Given the description of an element on the screen output the (x, y) to click on. 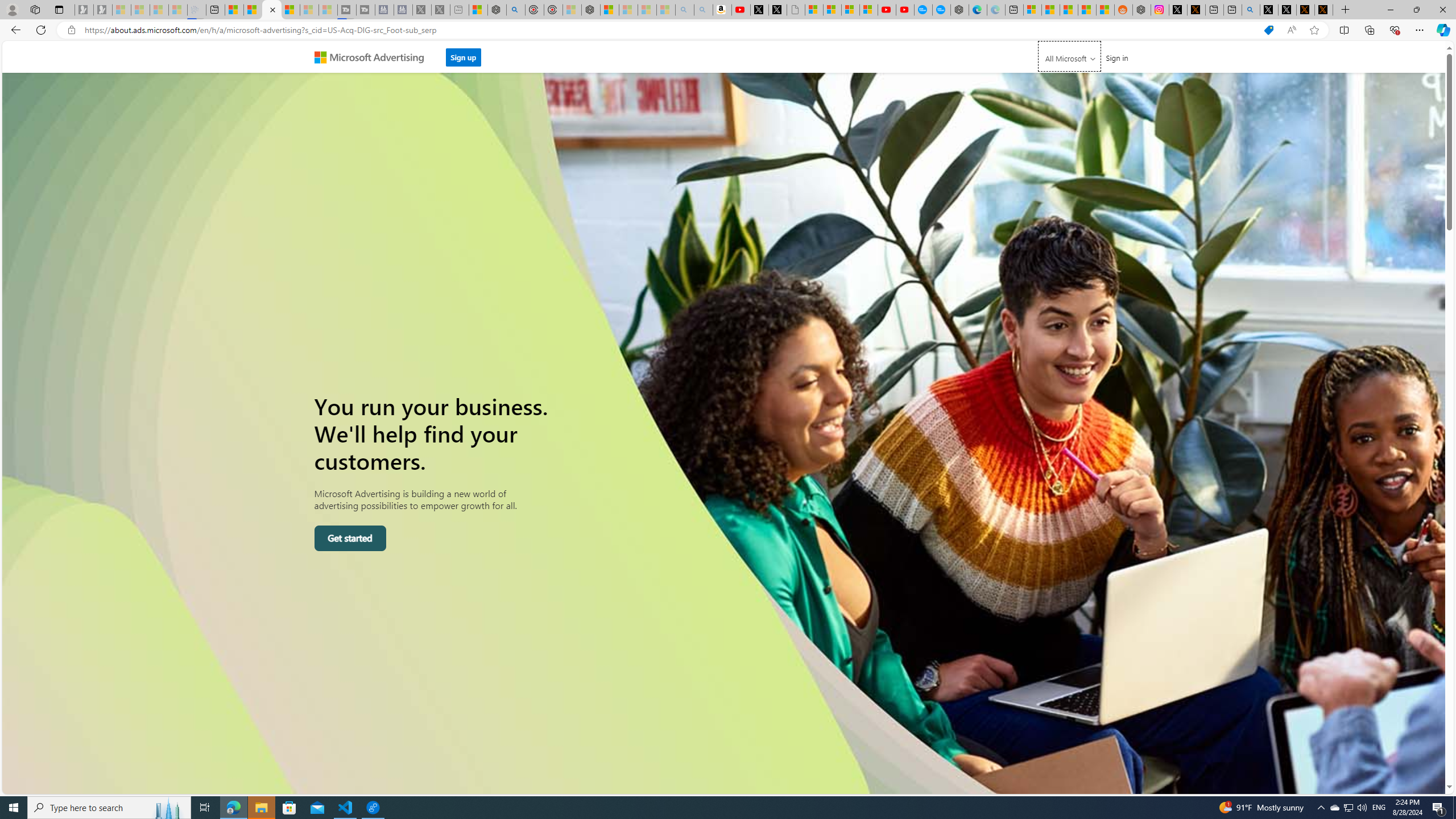
Shanghai, China weather forecast | Microsoft Weather (1050, 9)
Day 1: Arriving in Yemen (surreal to be here) - YouTube (740, 9)
Untitled (795, 9)
poe - Search (515, 9)
YouTube Kids - An App Created for Kids to Explore Content (904, 9)
help.x.com | 524: A timeout occurred (1195, 9)
